Given the description of an element on the screen output the (x, y) to click on. 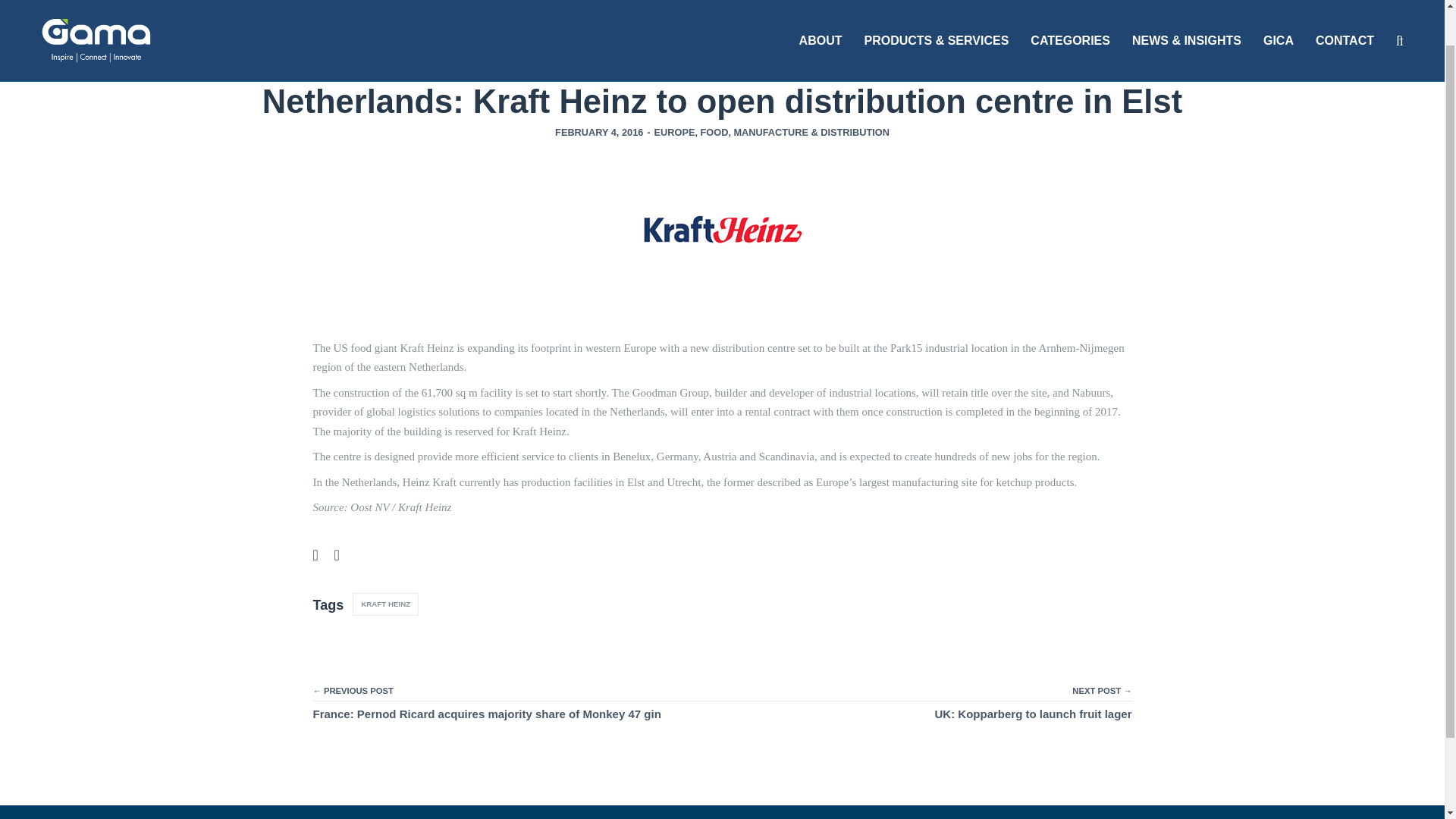
CATEGORIES (1070, 20)
ABOUT (821, 20)
